Given the description of an element on the screen output the (x, y) to click on. 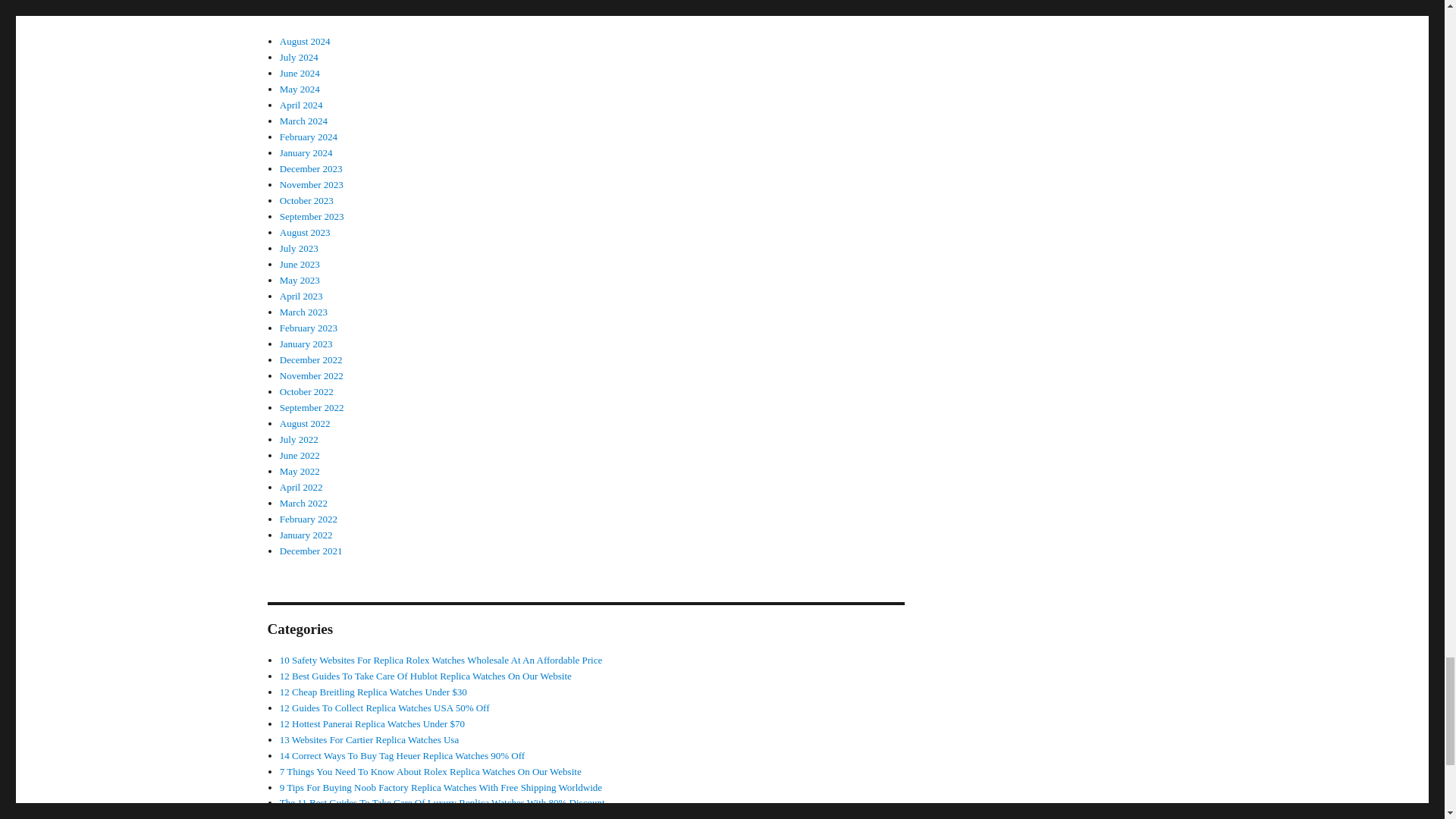
August 2024 (304, 41)
April 2023 (301, 296)
March 2024 (303, 120)
December 2022 (310, 359)
February 2024 (308, 136)
June 2023 (299, 264)
August 2023 (304, 232)
November 2023 (311, 184)
January 2023 (306, 343)
January 2024 (306, 152)
